Given the description of an element on the screen output the (x, y) to click on. 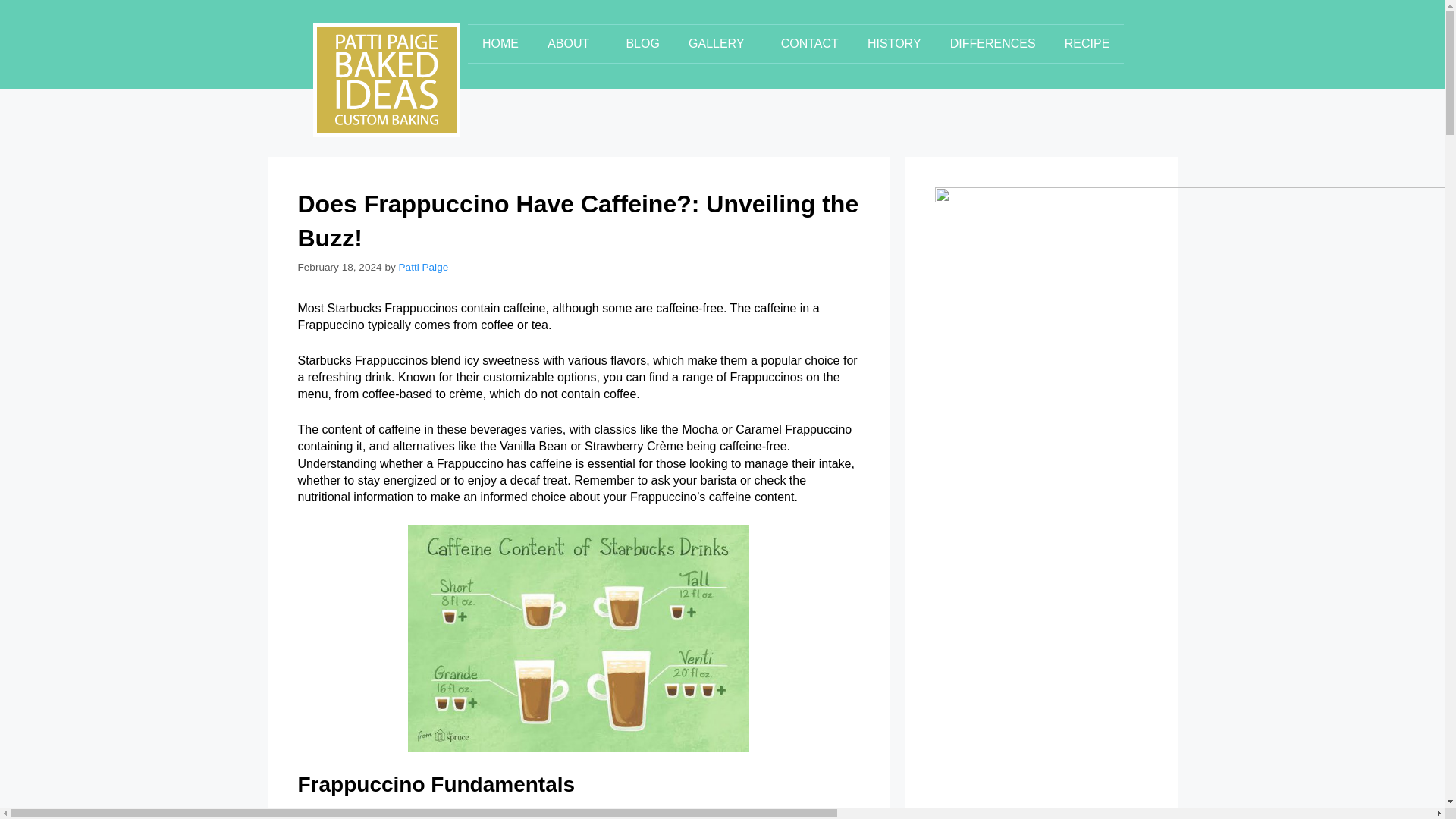
DIFFERENCES (992, 43)
CONTACT (810, 43)
Patti Paige (423, 266)
HISTORY (894, 43)
HOME (499, 43)
GALLERY (720, 43)
ABOUT (571, 43)
RECIPE (1086, 43)
View all posts by Patti Paige (423, 266)
BLOG (642, 43)
